Given the description of an element on the screen output the (x, y) to click on. 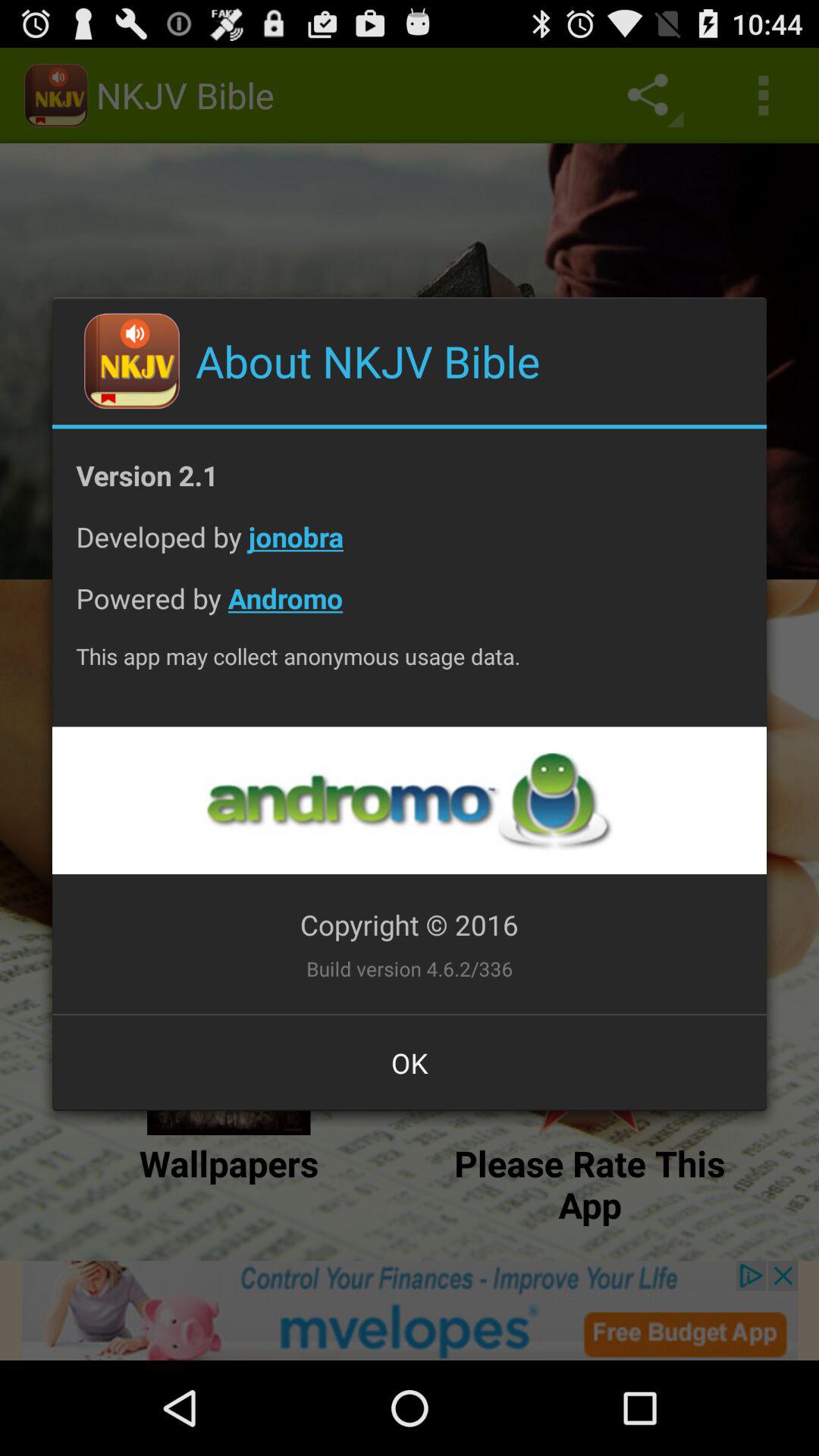
click the app above the this app may (409, 609)
